Given the description of an element on the screen output the (x, y) to click on. 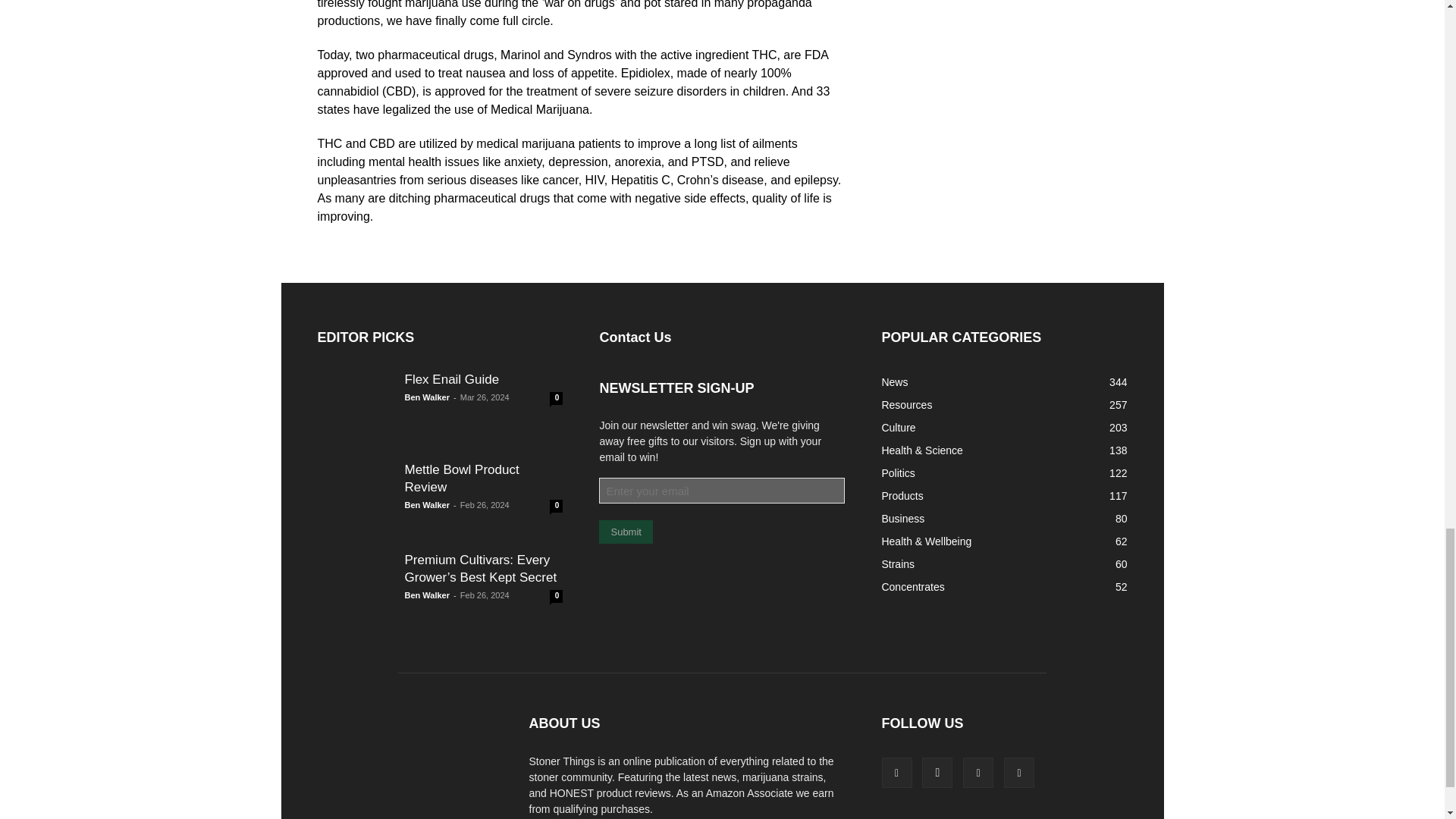
Submit (625, 531)
